Given the description of an element on the screen output the (x, y) to click on. 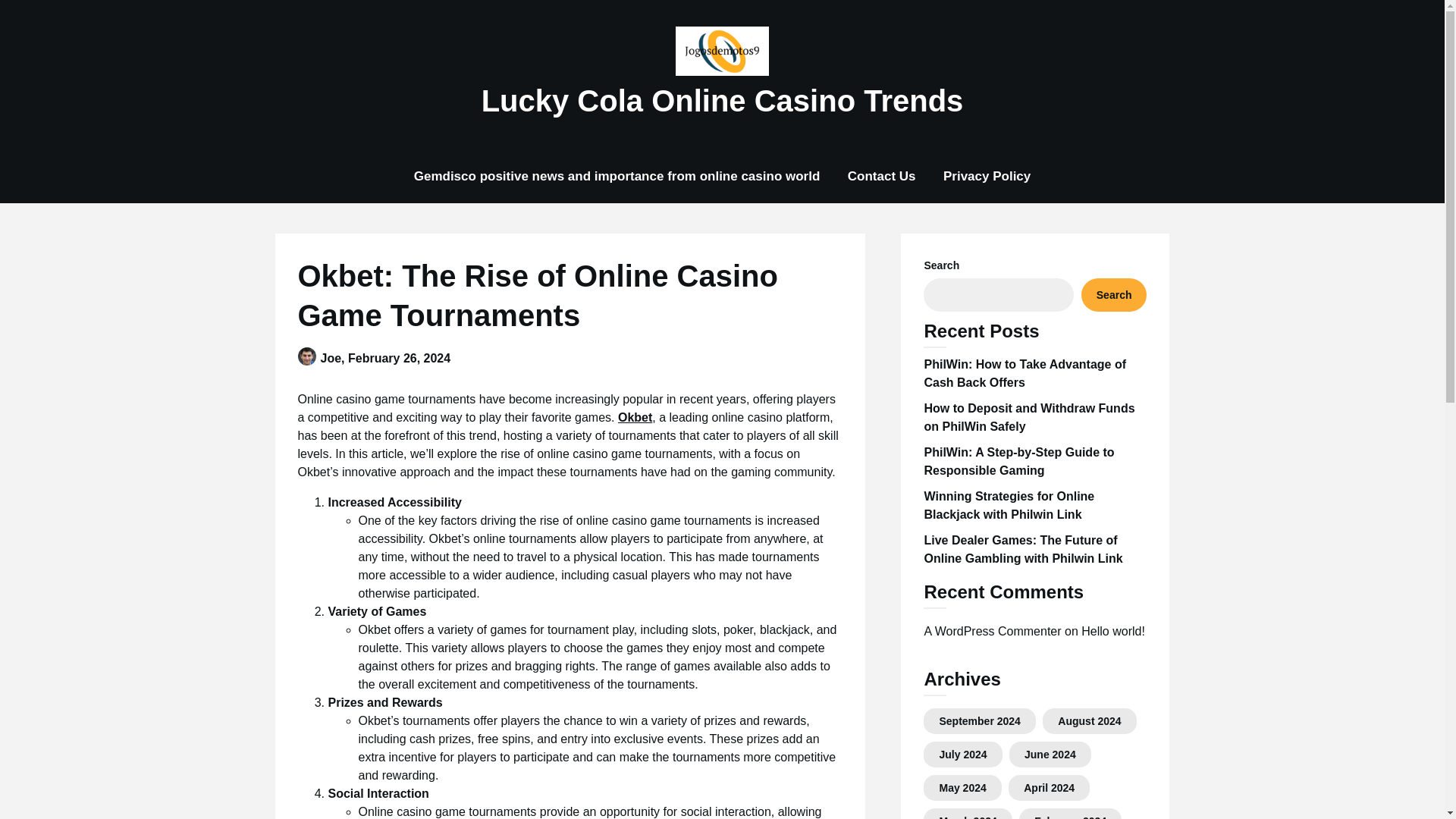
How to Deposit and Withdraw Funds on PhilWin Safely (1028, 417)
A WordPress Commenter (992, 631)
Contact Us (881, 176)
PhilWin: A Step-by-Step Guide to Responsible Gaming (1018, 460)
August 2024 (1089, 720)
June 2024 (1050, 754)
March 2024 (967, 816)
Winning Strategies for Online Blackjack with Philwin Link (1008, 504)
February 2024 (1069, 816)
